Given the description of an element on the screen output the (x, y) to click on. 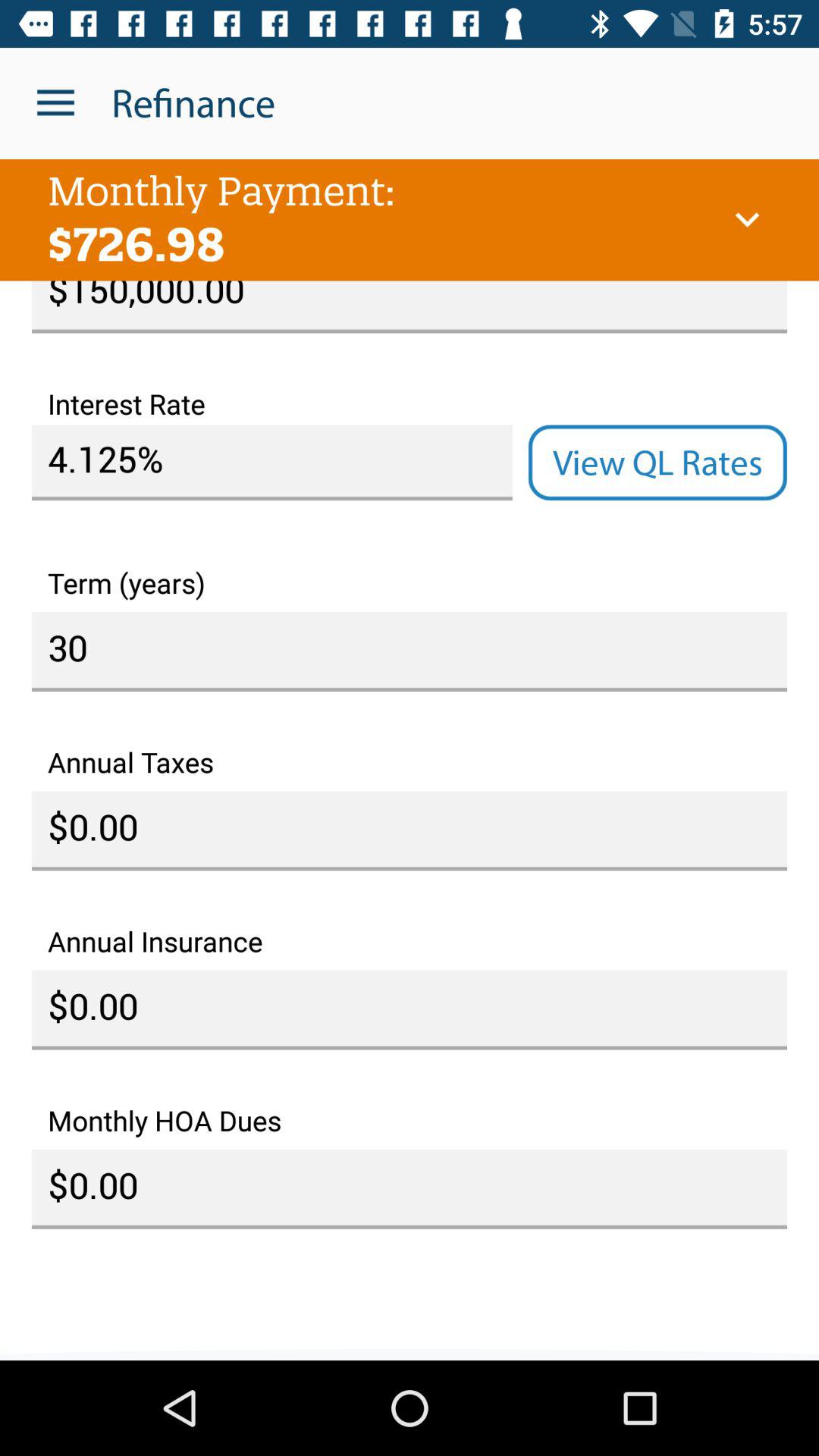
choose icon next to the refinance (55, 103)
